Given the description of an element on the screen output the (x, y) to click on. 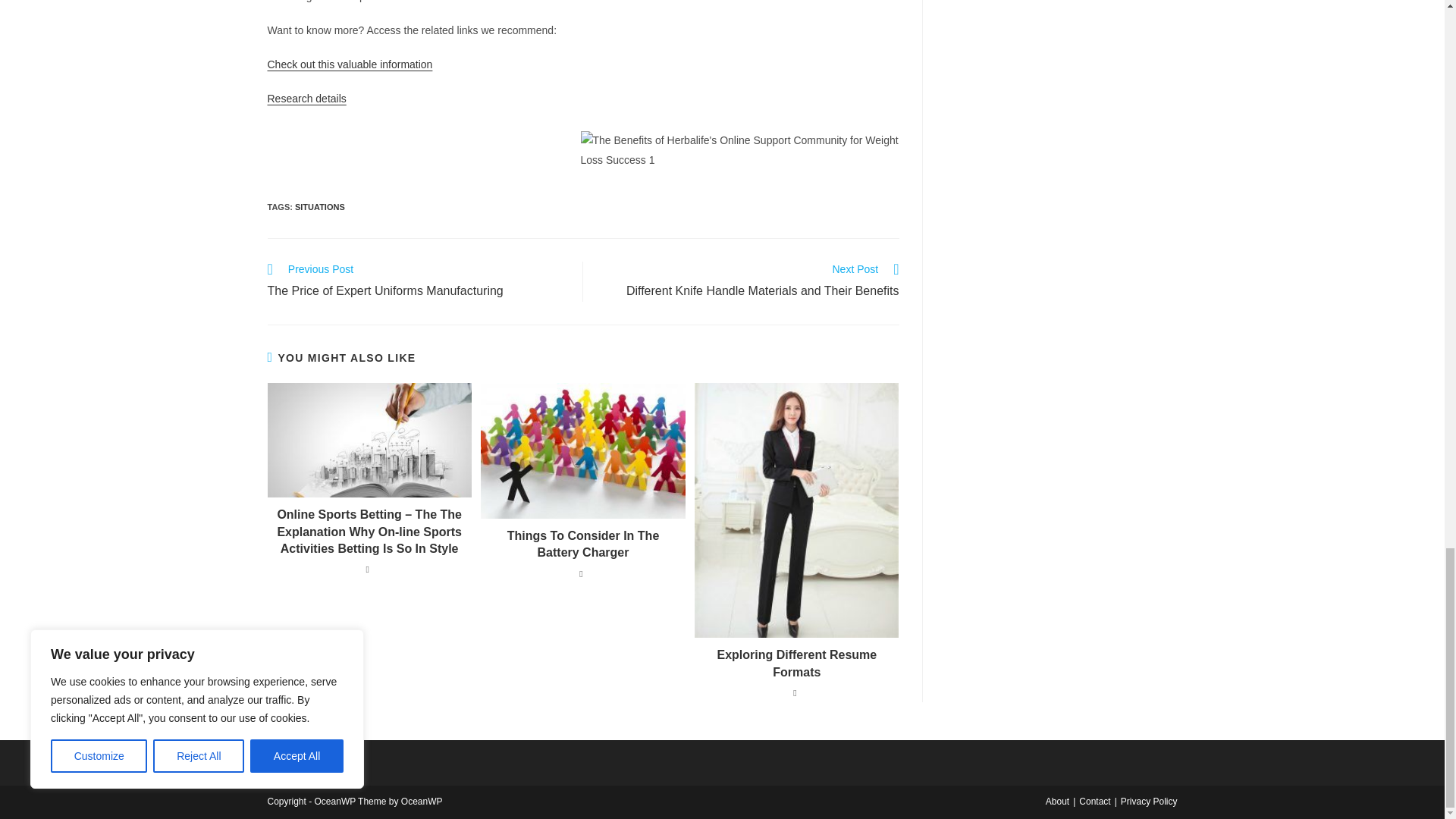
Check out this valuable information (349, 64)
SITUATIONS (320, 206)
Research details (416, 281)
